Given the description of an element on the screen output the (x, y) to click on. 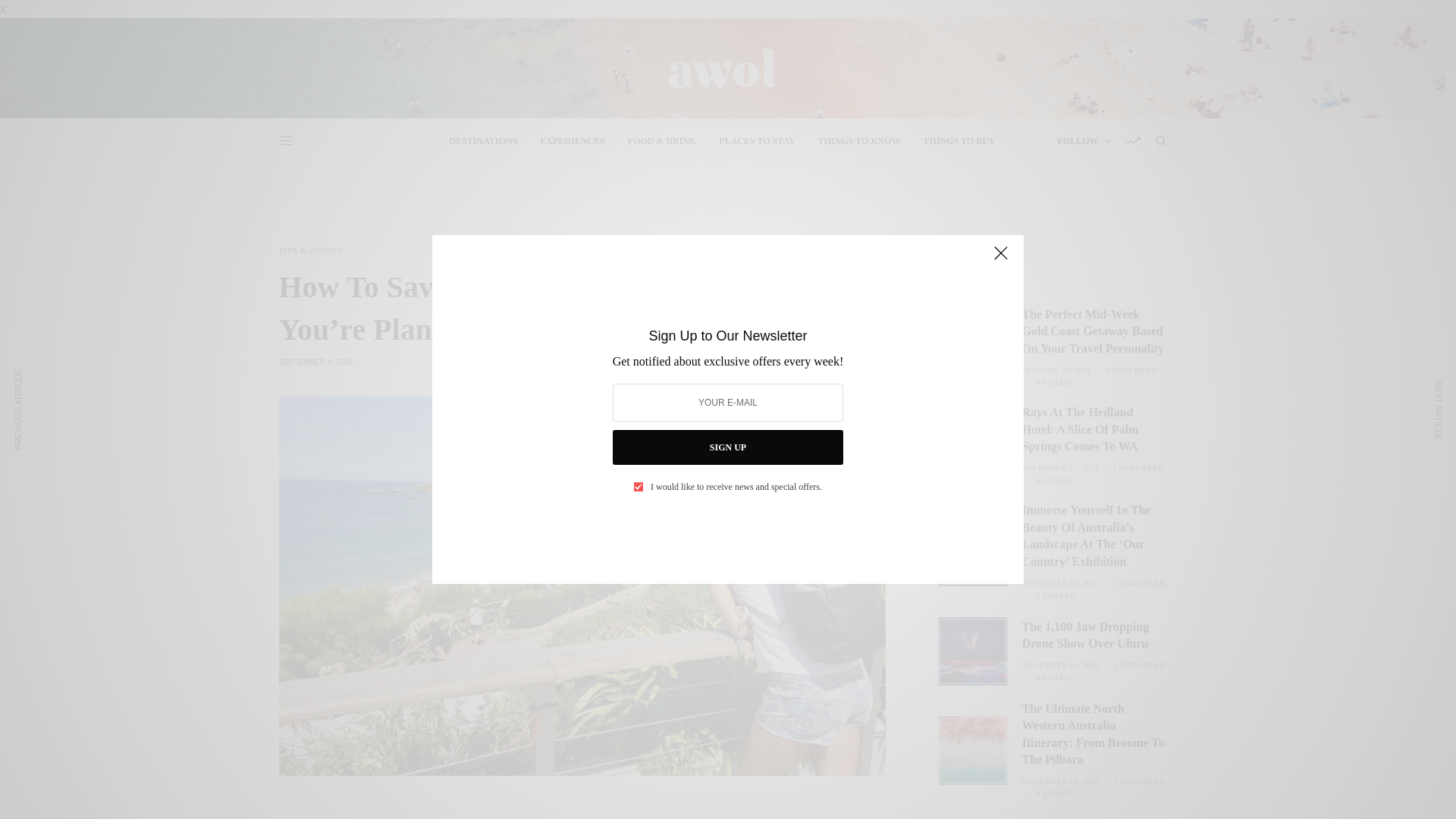
DESTINATIONS (483, 140)
EXPERIENCES (572, 140)
THINGS TO BUY (959, 140)
AWOL (721, 67)
THINGS TO KNOW (859, 140)
FOLLOW (1083, 140)
SIGN UP (728, 447)
PLACES TO STAY (756, 140)
The 1,100 Jaw Dropping Drone Show Over Uluru (1094, 635)
